Given the description of an element on the screen output the (x, y) to click on. 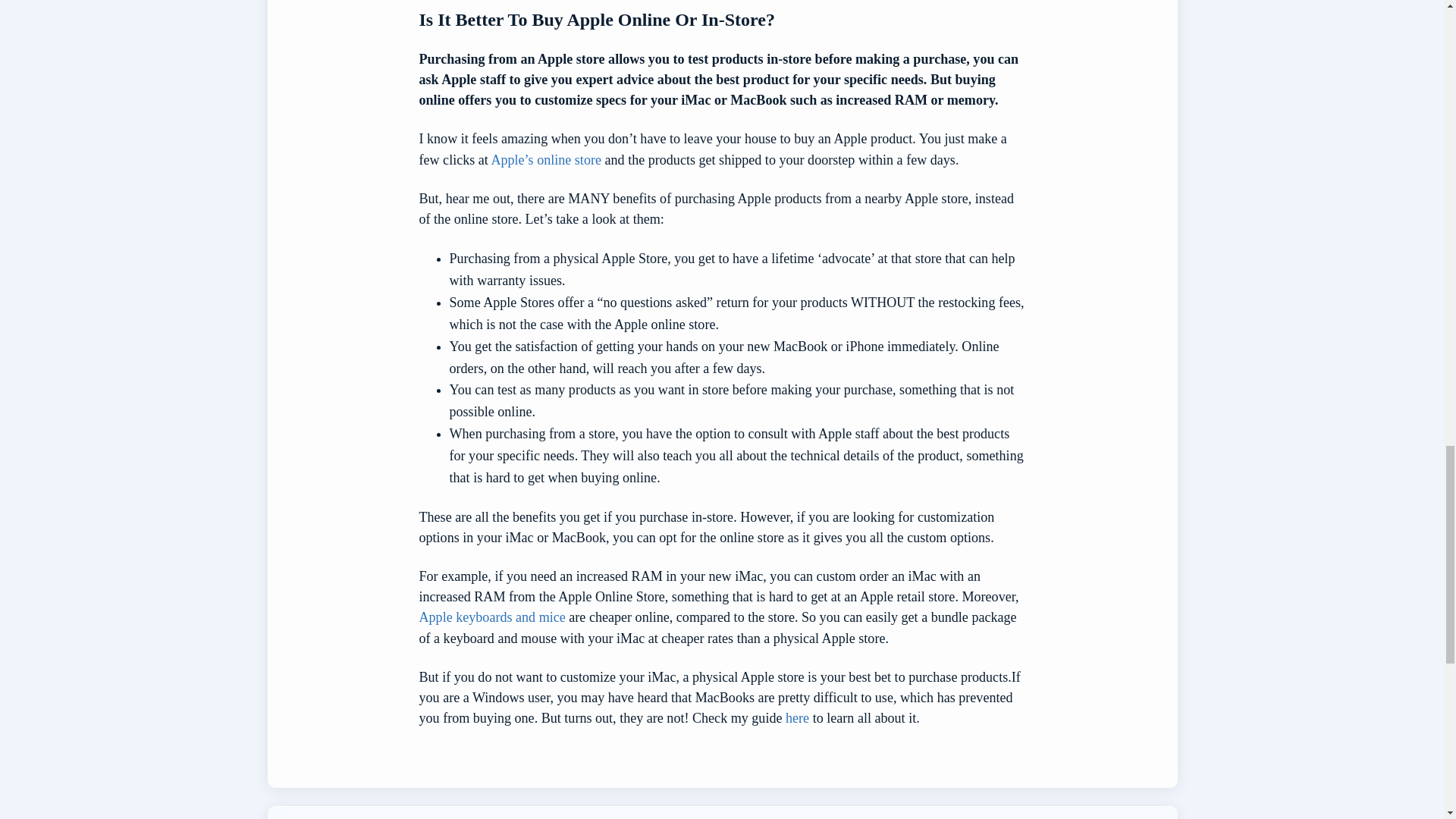
Apple keyboards and mice (494, 616)
here (797, 717)
